Given the description of an element on the screen output the (x, y) to click on. 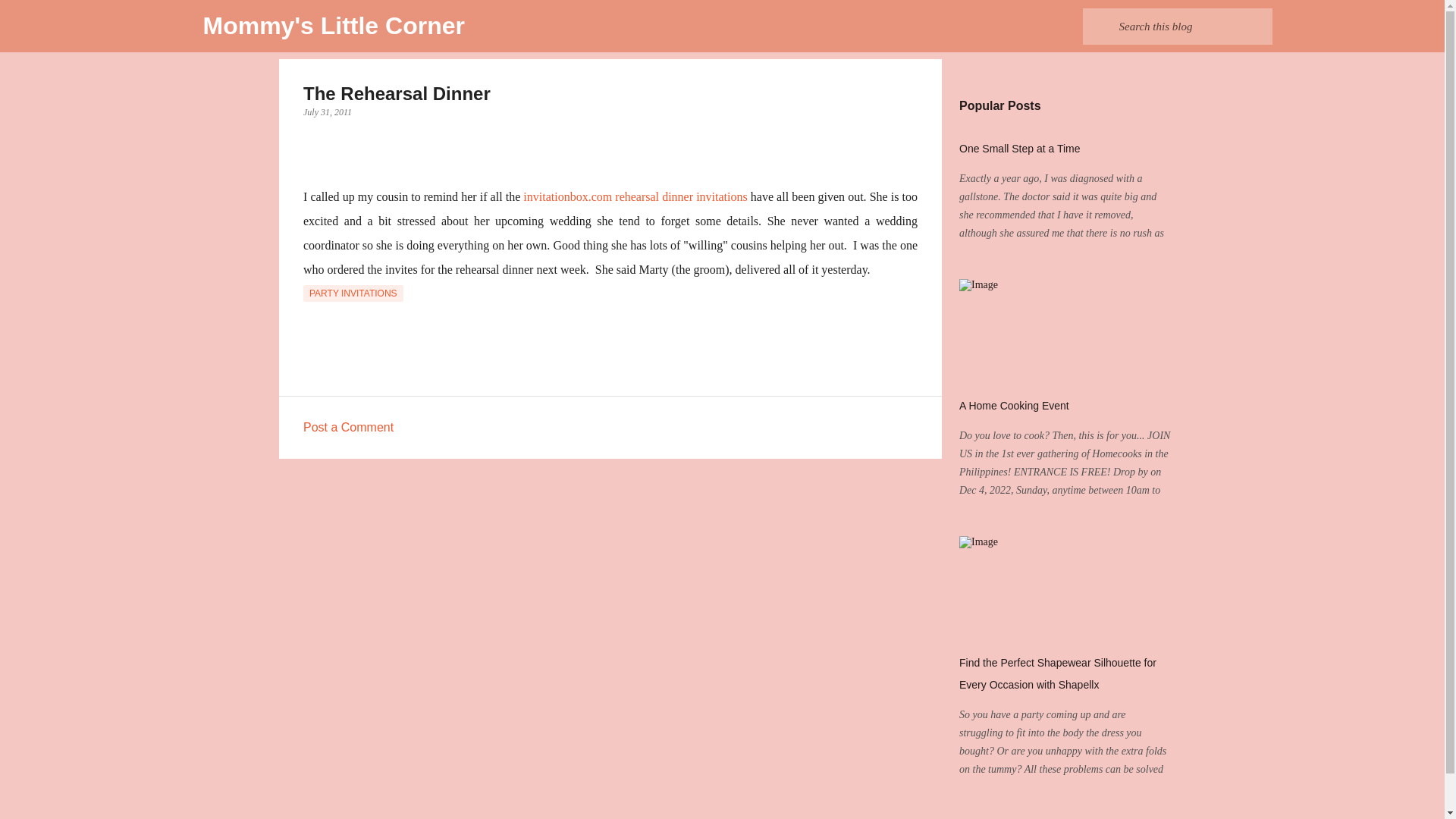
invitationbox.com rehearsal dinner invitations (634, 196)
permanent link (327, 112)
One Small Step at a Time (1019, 148)
PARTY INVITATIONS (352, 293)
Post a Comment (347, 427)
July 31, 2011 (327, 112)
Mommy's Little Corner (333, 25)
A Home Cooking Event (1013, 405)
